Given the description of an element on the screen output the (x, y) to click on. 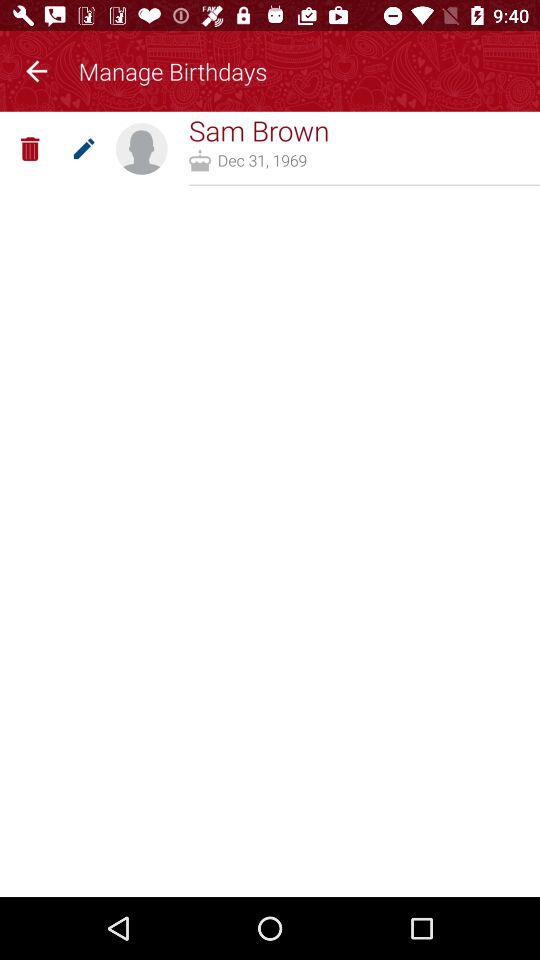
turn on dec 31, 1969 (262, 160)
